Given the description of an element on the screen output the (x, y) to click on. 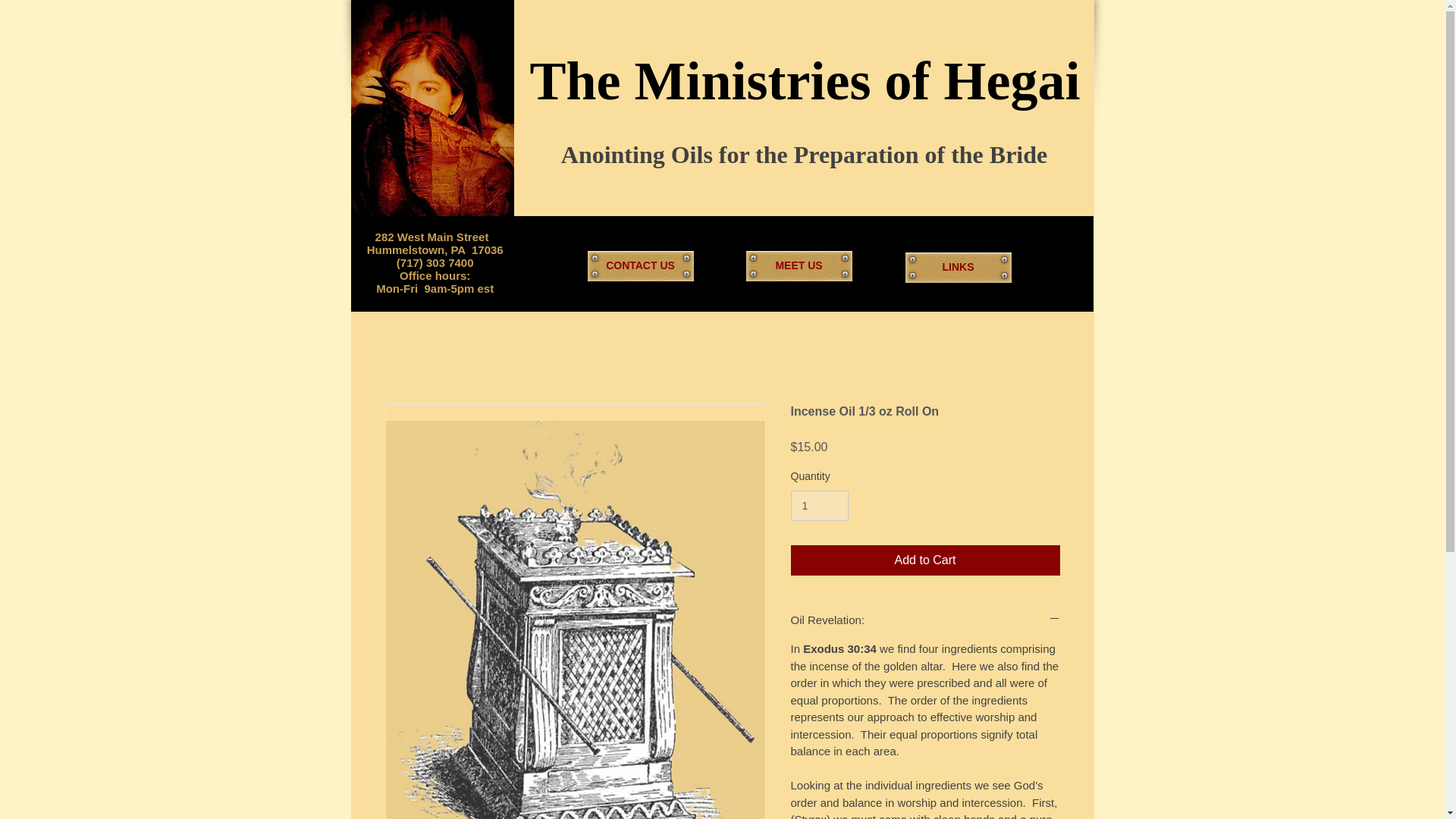
1 (818, 505)
MEET US (798, 265)
Add to Cart (924, 560)
CONTACT US (639, 265)
Oil Revelation: (924, 619)
LINKS (958, 267)
